Given the description of an element on the screen output the (x, y) to click on. 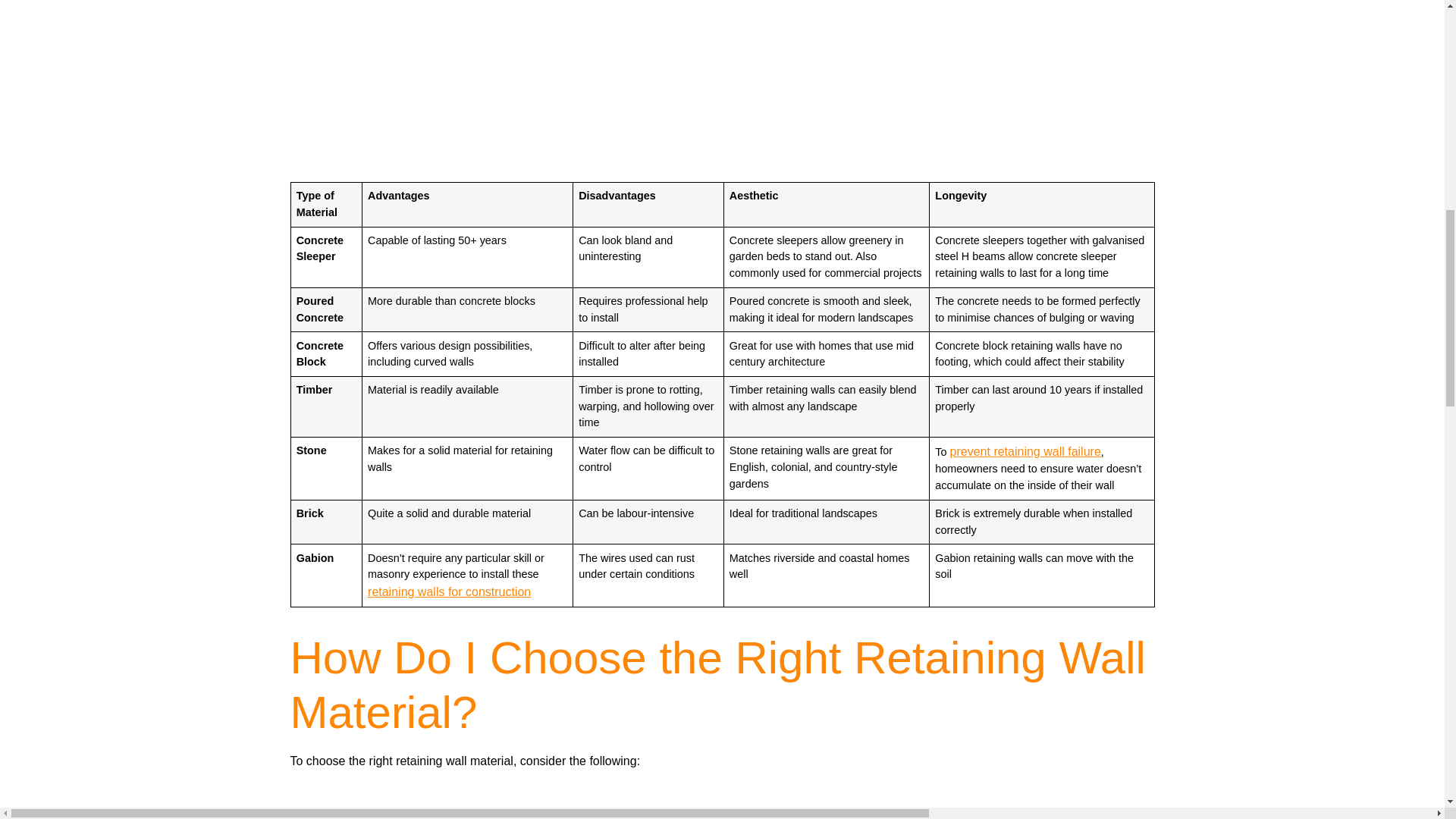
prevent retaining wall failure (1025, 451)
retaining walls for construction (449, 591)
